Given the description of an element on the screen output the (x, y) to click on. 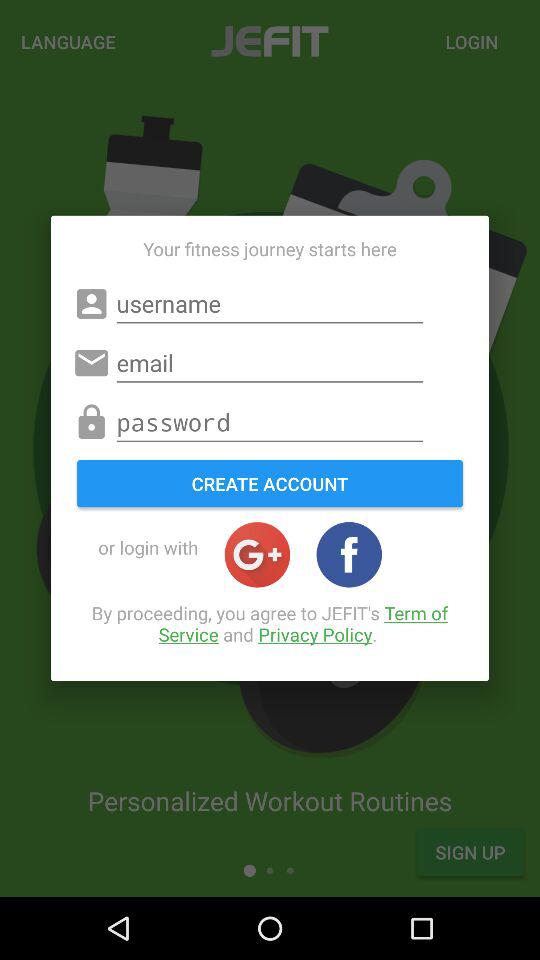
enter password (269, 422)
